Given the description of an element on the screen output the (x, y) to click on. 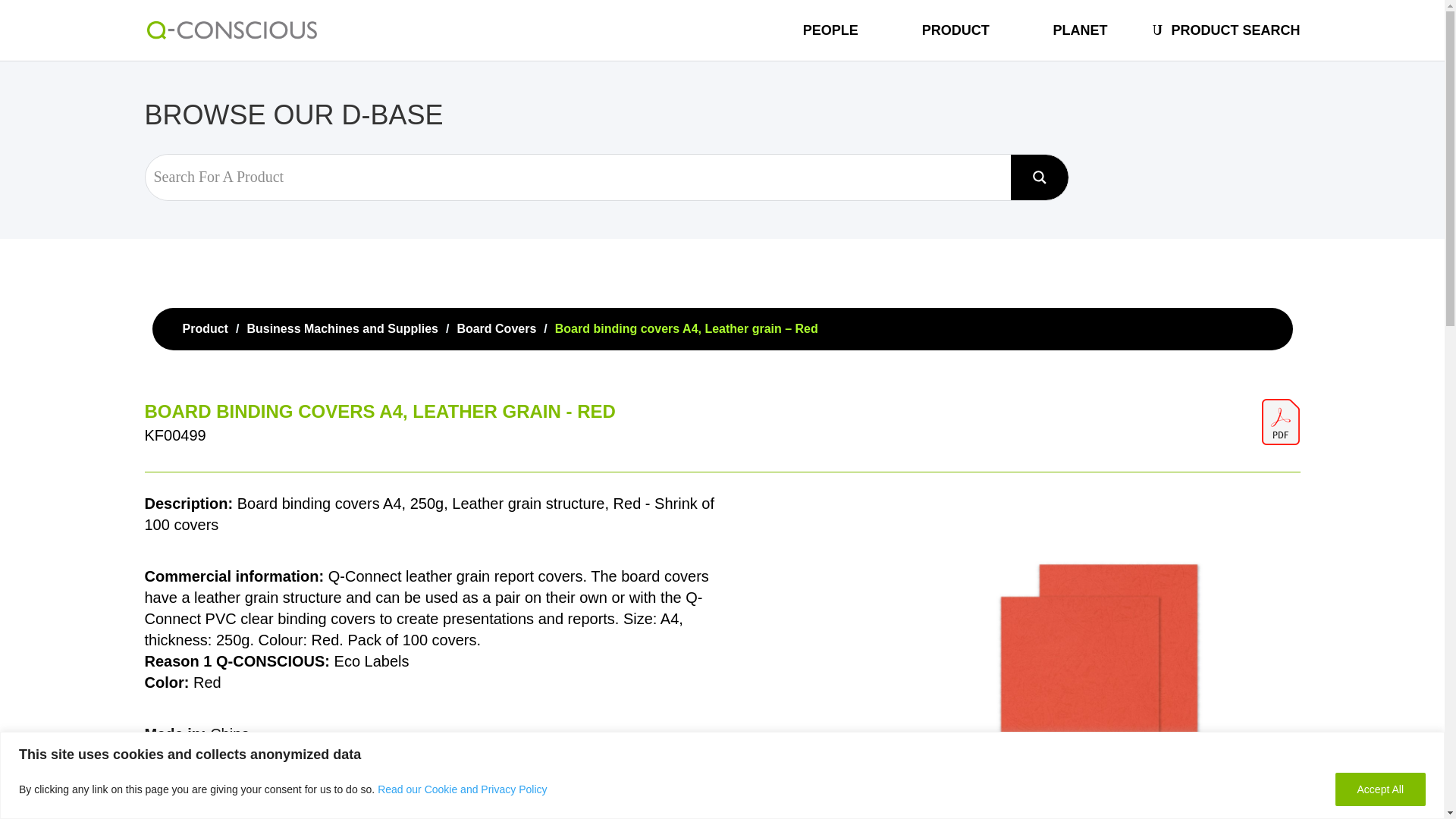
Product (204, 328)
PRODUCT (955, 42)
Read our Cookie and Privacy Policy (462, 788)
PRODUCT SEARCH (1235, 42)
Accept All (1380, 788)
PLANET (1080, 42)
PEOPLE (831, 42)
Business Machines and Supplies (342, 328)
Board Covers (496, 328)
